Given the description of an element on the screen output the (x, y) to click on. 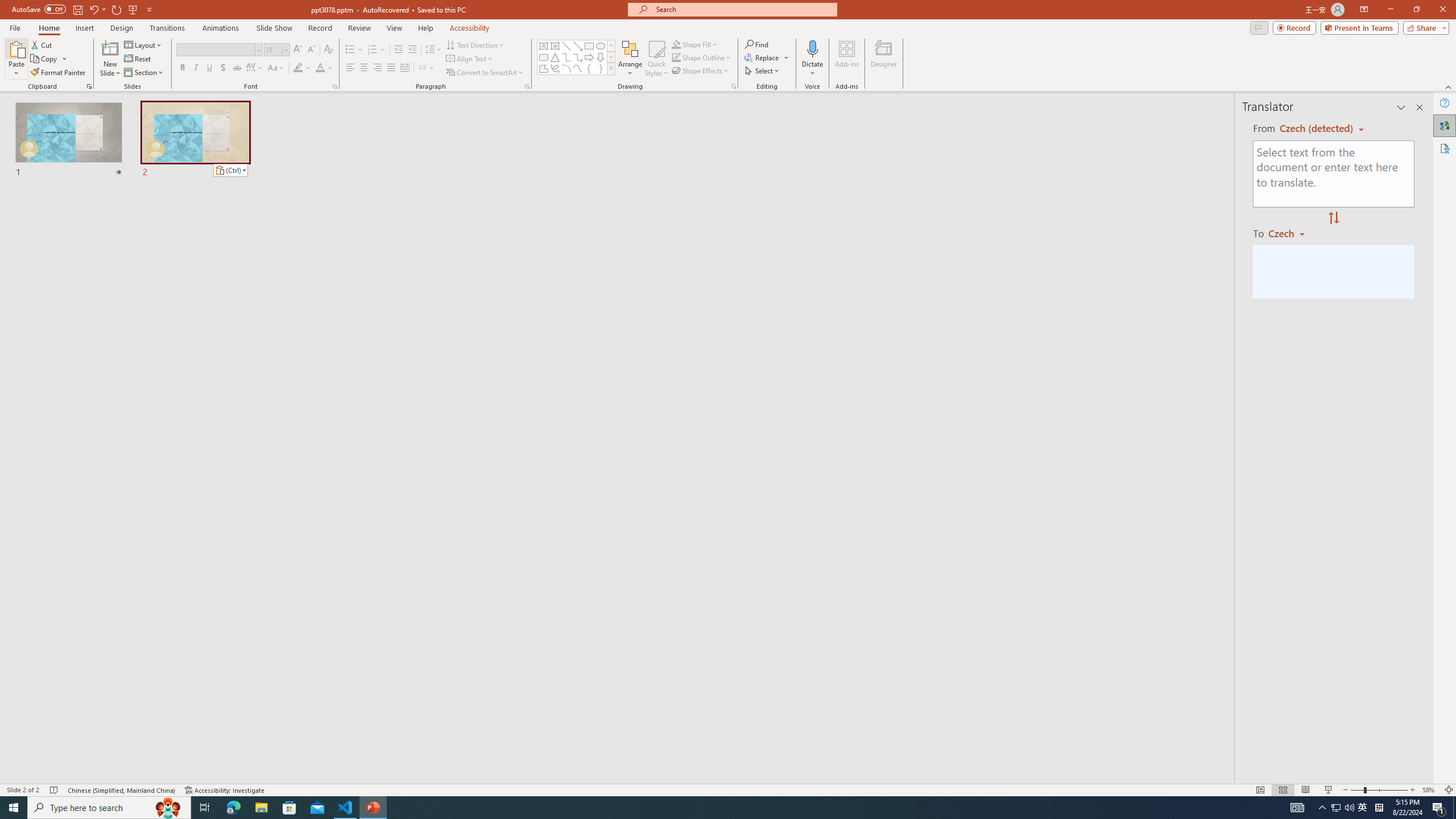
Zoom 58% (1430, 790)
